Given the description of an element on the screen output the (x, y) to click on. 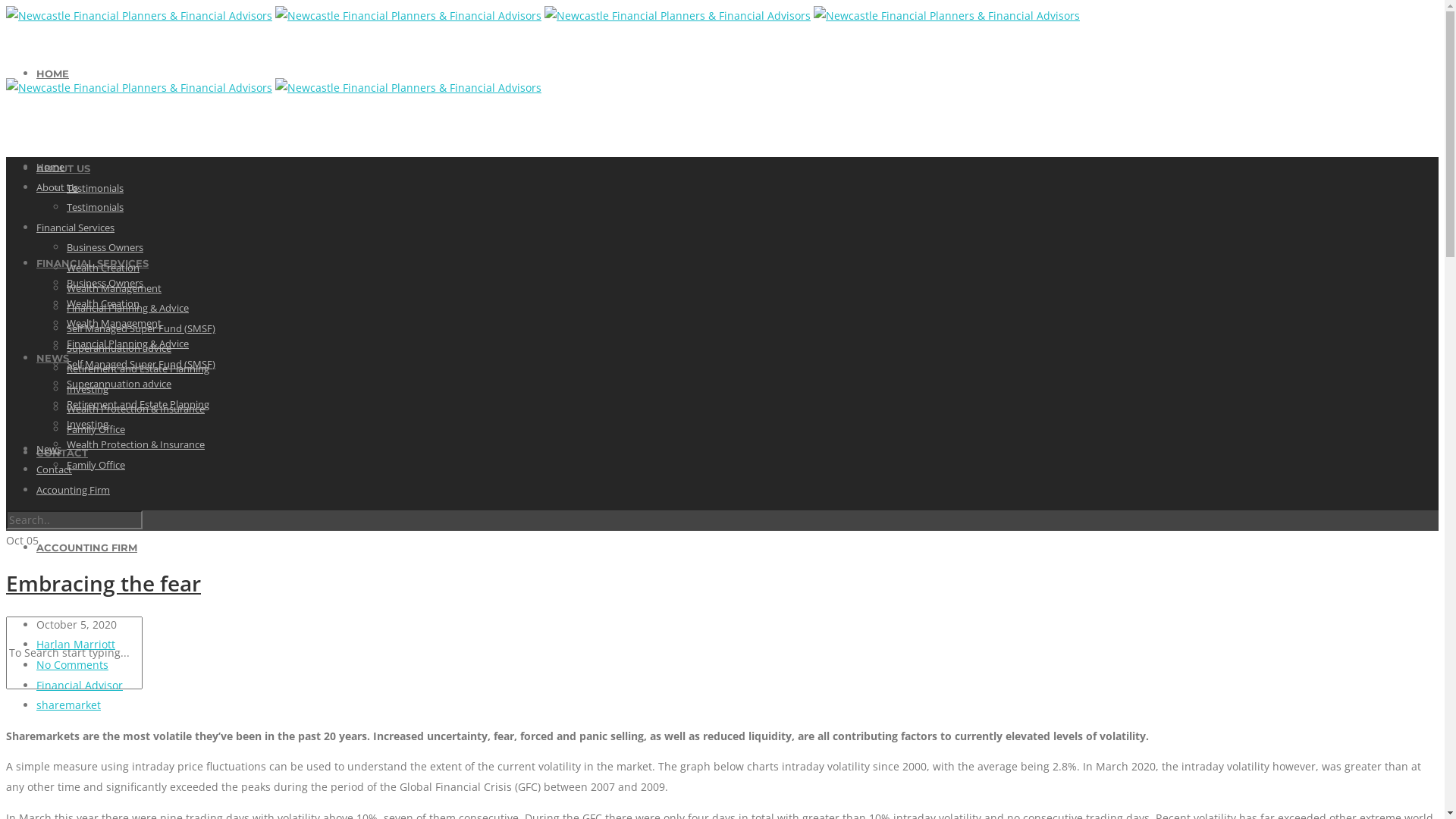
Wealth Protection & Insurance Element type: text (135, 444)
Superannuation advice Element type: text (118, 383)
Superannuation advice Element type: text (118, 347)
Accounting Firm Element type: text (72, 488)
Testimonials Element type: text (94, 206)
Wealth Creation Element type: text (102, 267)
Wealth Management Element type: text (113, 322)
Business Owners Element type: text (104, 247)
News Element type: text (48, 448)
About Us Element type: text (57, 187)
Investing Element type: text (87, 388)
Financial Planning & Advice Element type: text (127, 307)
Business Owners Element type: text (104, 282)
NEWS Element type: text (52, 357)
Self Managed Super Fund (SMSF) Element type: text (140, 328)
sharemarket Element type: text (68, 704)
FINANCIAL SERVICES Element type: text (92, 263)
HOME Element type: text (52, 73)
Family Office Element type: text (95, 464)
Contact Element type: text (54, 469)
Financial Services Element type: text (75, 227)
Retirement and Estate Planning Element type: text (137, 368)
No Comments Element type: text (72, 664)
Self Managed Super Fund (SMSF) Element type: text (140, 363)
Harlan Marriott Element type: text (75, 644)
Investing Element type: text (87, 423)
ACCOUNTING FIRM Element type: text (86, 547)
ABOUT US Element type: text (63, 168)
Wealth Protection & Insurance Element type: text (135, 408)
Embracing the fear Element type: text (103, 582)
Testimonials Element type: text (94, 187)
Wealth Creation Element type: text (102, 303)
Financial Advisor Element type: text (79, 684)
Retirement and Estate Planning Element type: text (137, 404)
Financial Planning & Advice Element type: text (127, 343)
Home Element type: text (50, 166)
Wealth Management Element type: text (113, 287)
Family Office Element type: text (95, 429)
CONTACT Element type: text (61, 452)
